Given the description of an element on the screen output the (x, y) to click on. 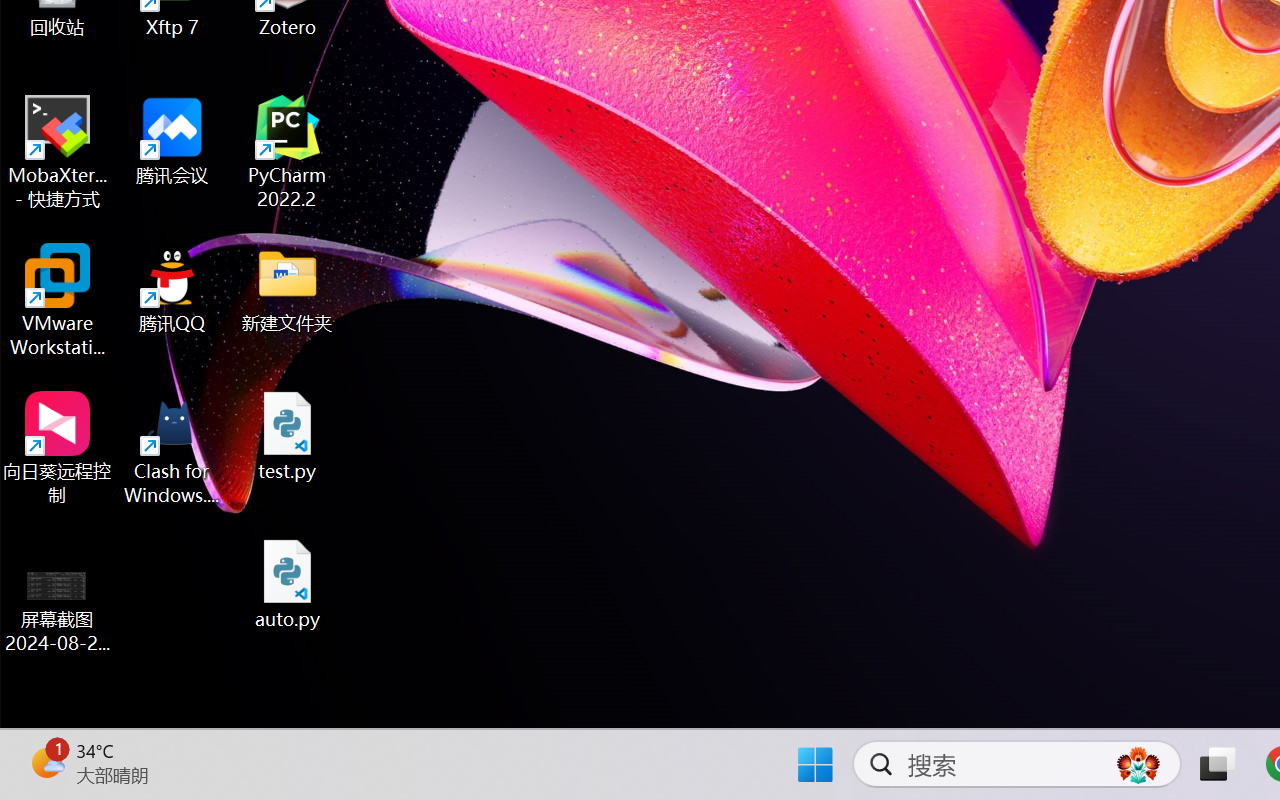
auto.py (287, 584)
VMware Workstation Pro (57, 300)
PyCharm 2022.2 (287, 152)
